Given the description of an element on the screen output the (x, y) to click on. 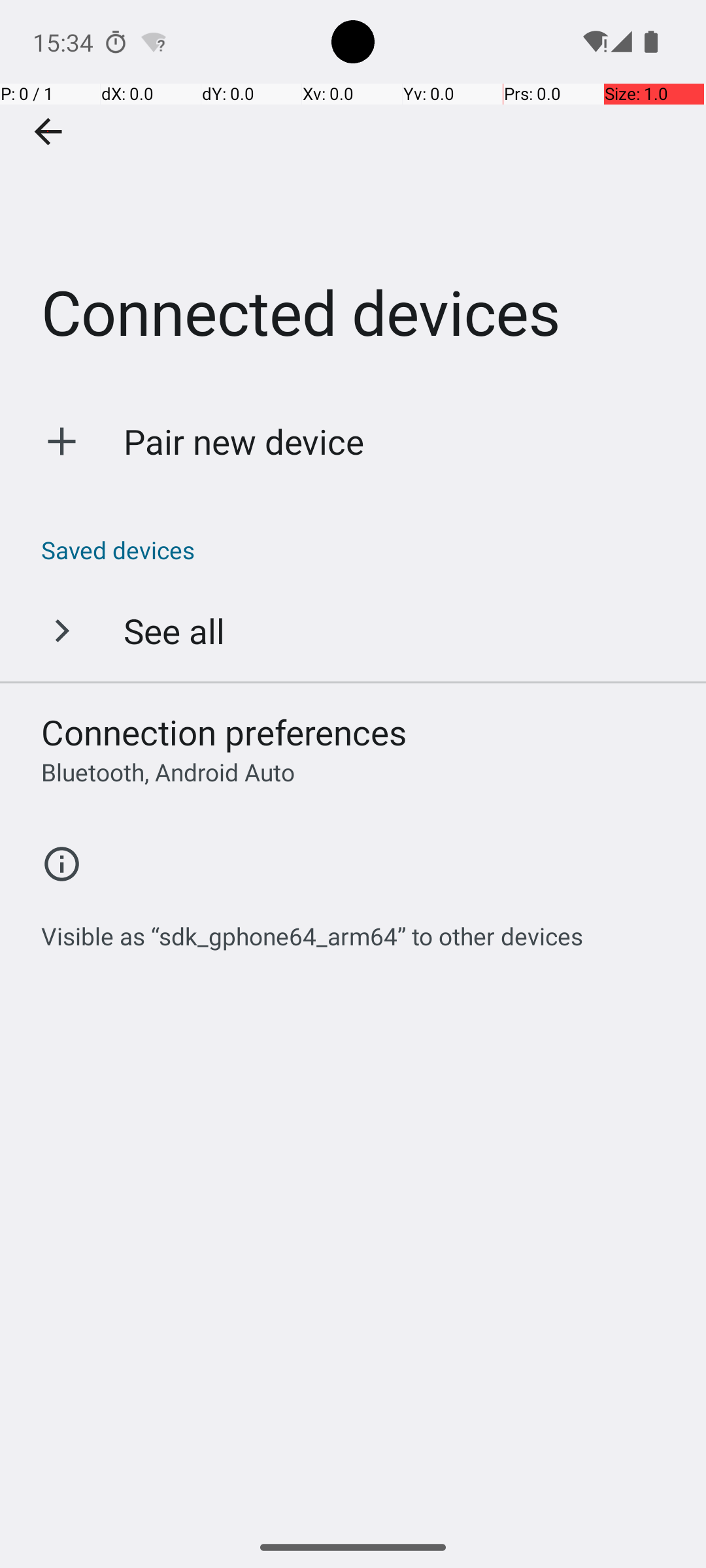
Visible as “sdk_gphone64_arm64” to other devices Element type: android.widget.TextView (312, 928)
